Given the description of an element on the screen output the (x, y) to click on. 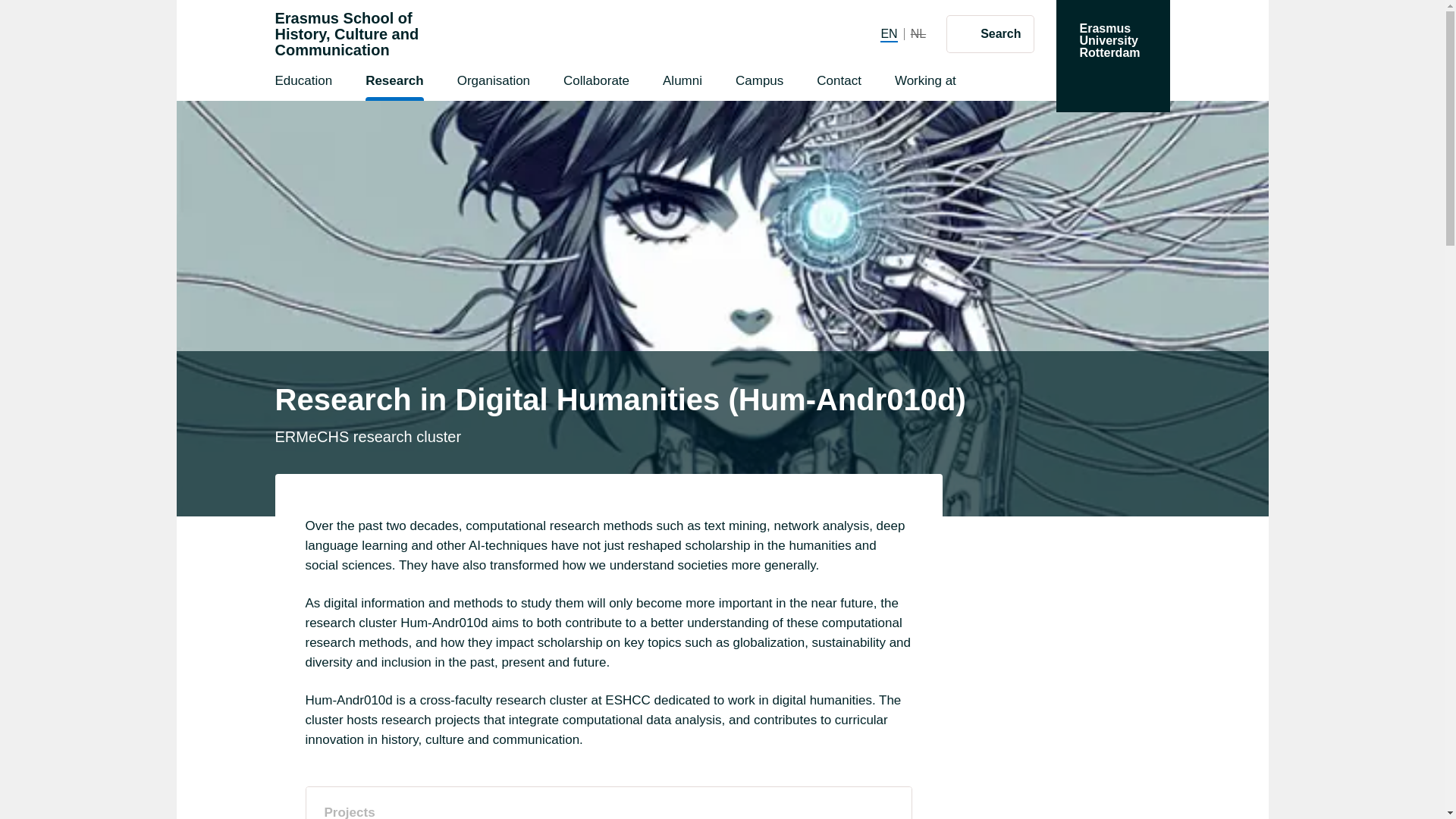
Collaborate (595, 82)
Search (347, 34)
Education (989, 33)
Research (302, 82)
Alumni (394, 82)
Listen to this page using ReadSpeaker (681, 82)
Organisation (1112, 56)
